Given the description of an element on the screen output the (x, y) to click on. 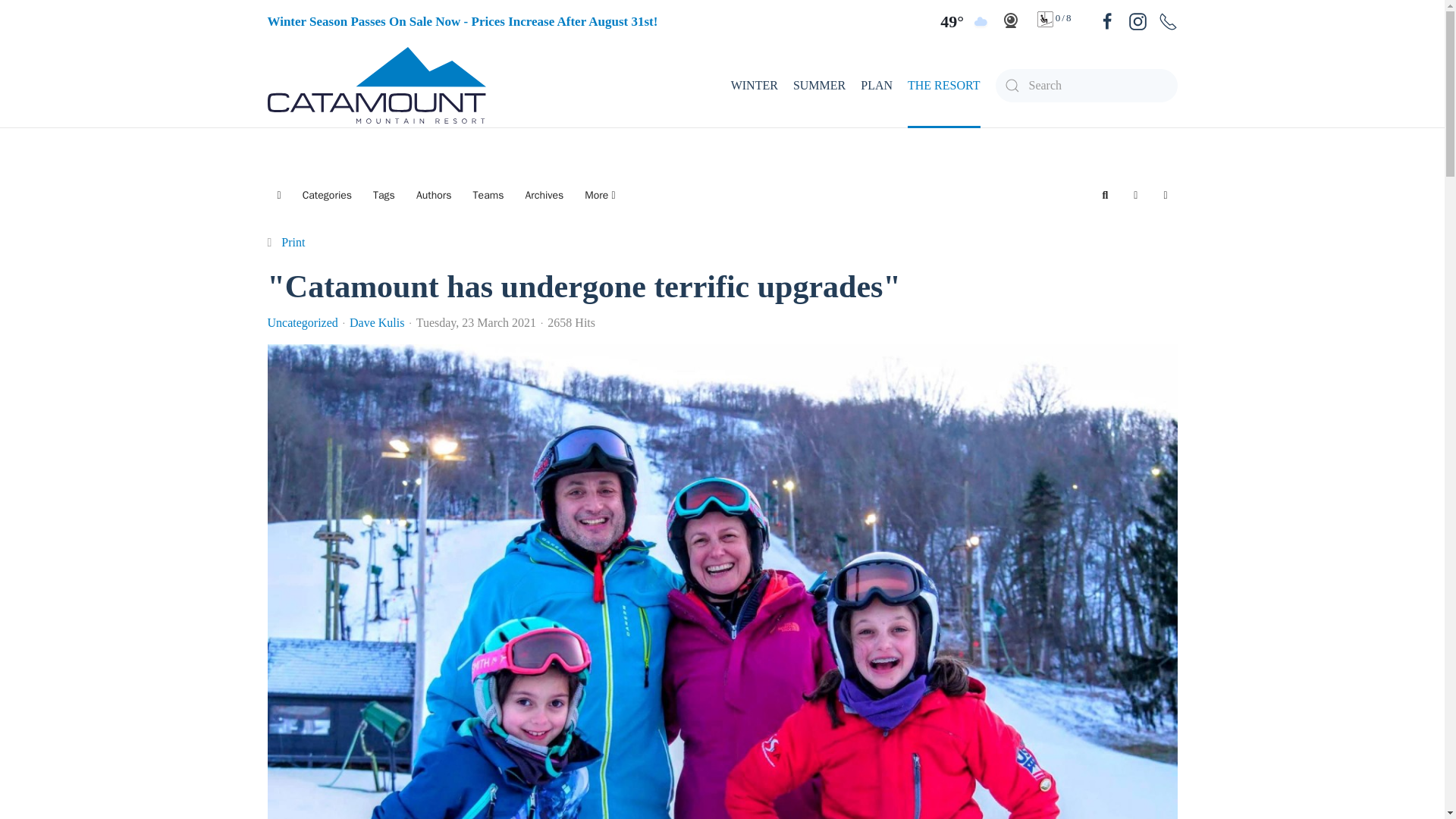
Teams (488, 194)
Webcams (1010, 20)
Categories (326, 194)
Lift Status (1045, 19)
Tags (383, 194)
Print (292, 241)
Archives (544, 194)
Authors (433, 194)
